Given the description of an element on the screen output the (x, y) to click on. 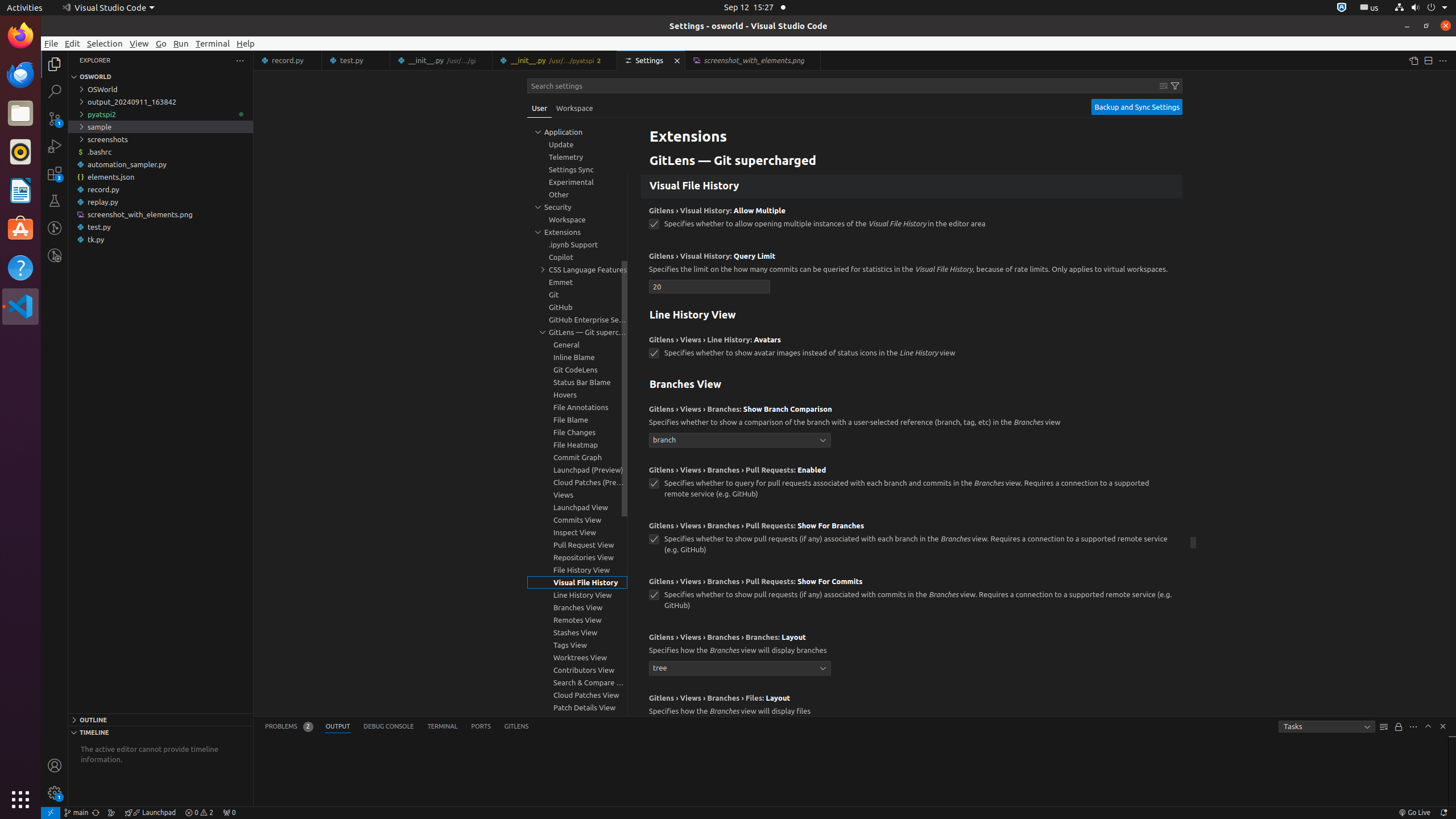
Run Element type: push-button (181, 43)
Emmet, group Element type: tree-item (577, 281)
Contributors View, group Element type: tree-item (577, 669)
elements.json Element type: tree-item (160, 176)
Active View Switcher Element type: page-tab-list (396, 726)
